Given the description of an element on the screen output the (x, y) to click on. 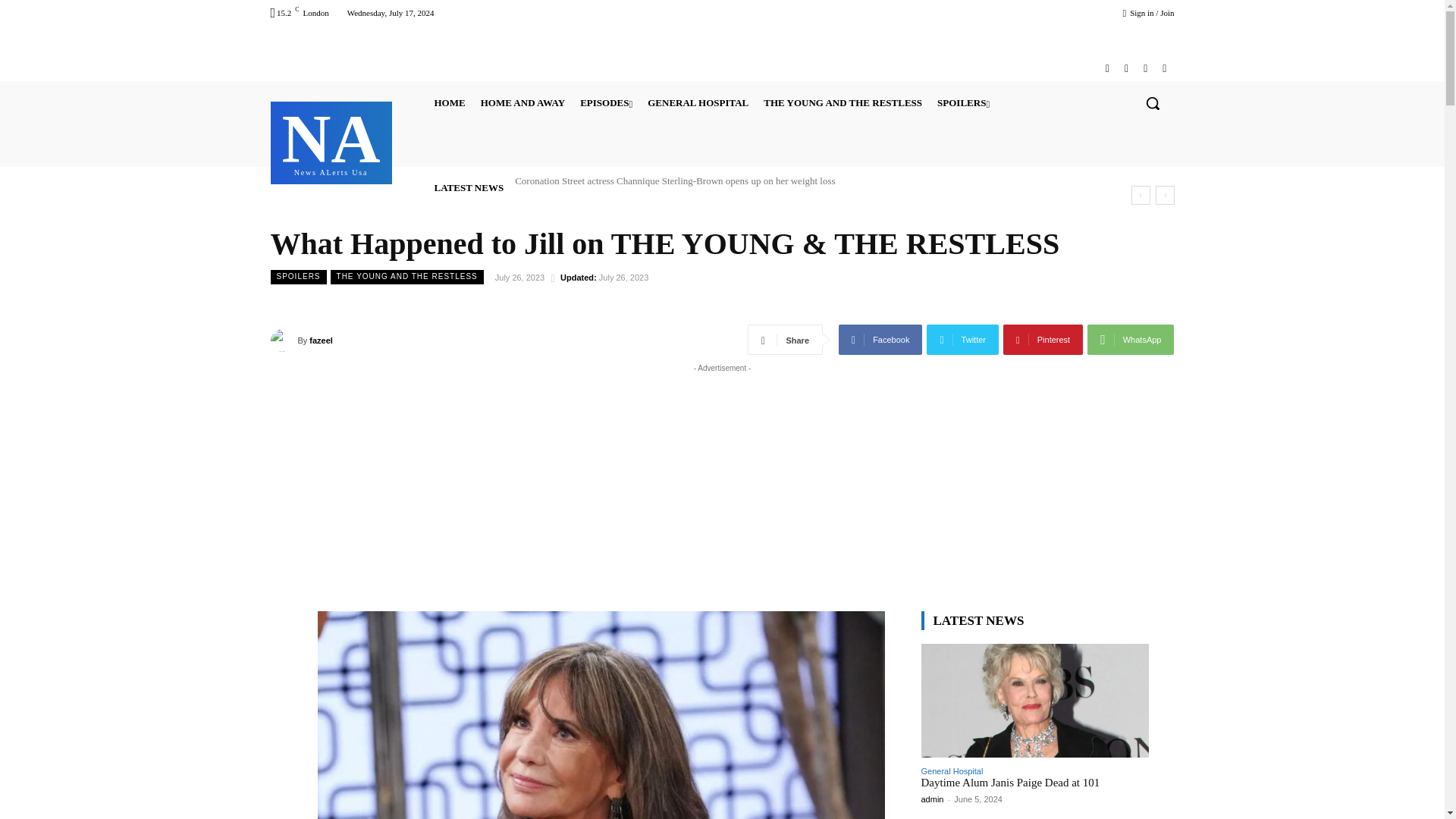
SPOILERS (963, 102)
THE YOUNG AND THE RESTLESS (331, 140)
GENERAL HOSPITAL (842, 102)
Facebook (698, 102)
EPISODES (1106, 67)
HOME AND AWAY (606, 102)
HOME (522, 102)
